Given the description of an element on the screen output the (x, y) to click on. 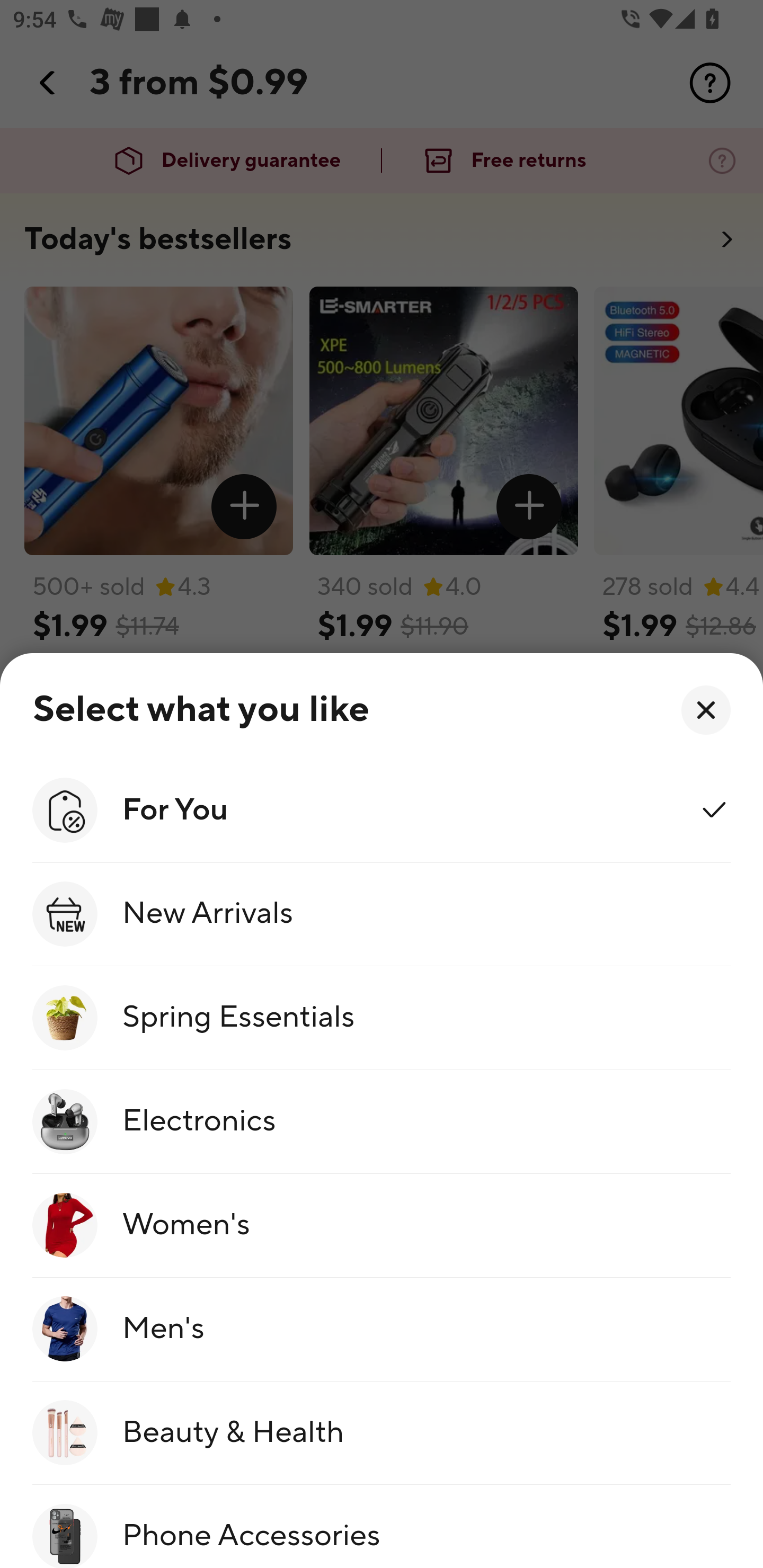
96x96 (705, 710)
144x144.png_ For You  (381, 809)
144x144.png_ New Arrivals (381, 913)
200x200.png_ Spring Essentials (381, 1017)
300x300.png_ Electronics (381, 1121)
200x200.png_ Women's (381, 1224)
200x200.png_ Men's (381, 1329)
300x300.png_ Beauty & Health (381, 1433)
300x300.png_ Phone Accessories (381, 1526)
